Given the description of an element on the screen output the (x, y) to click on. 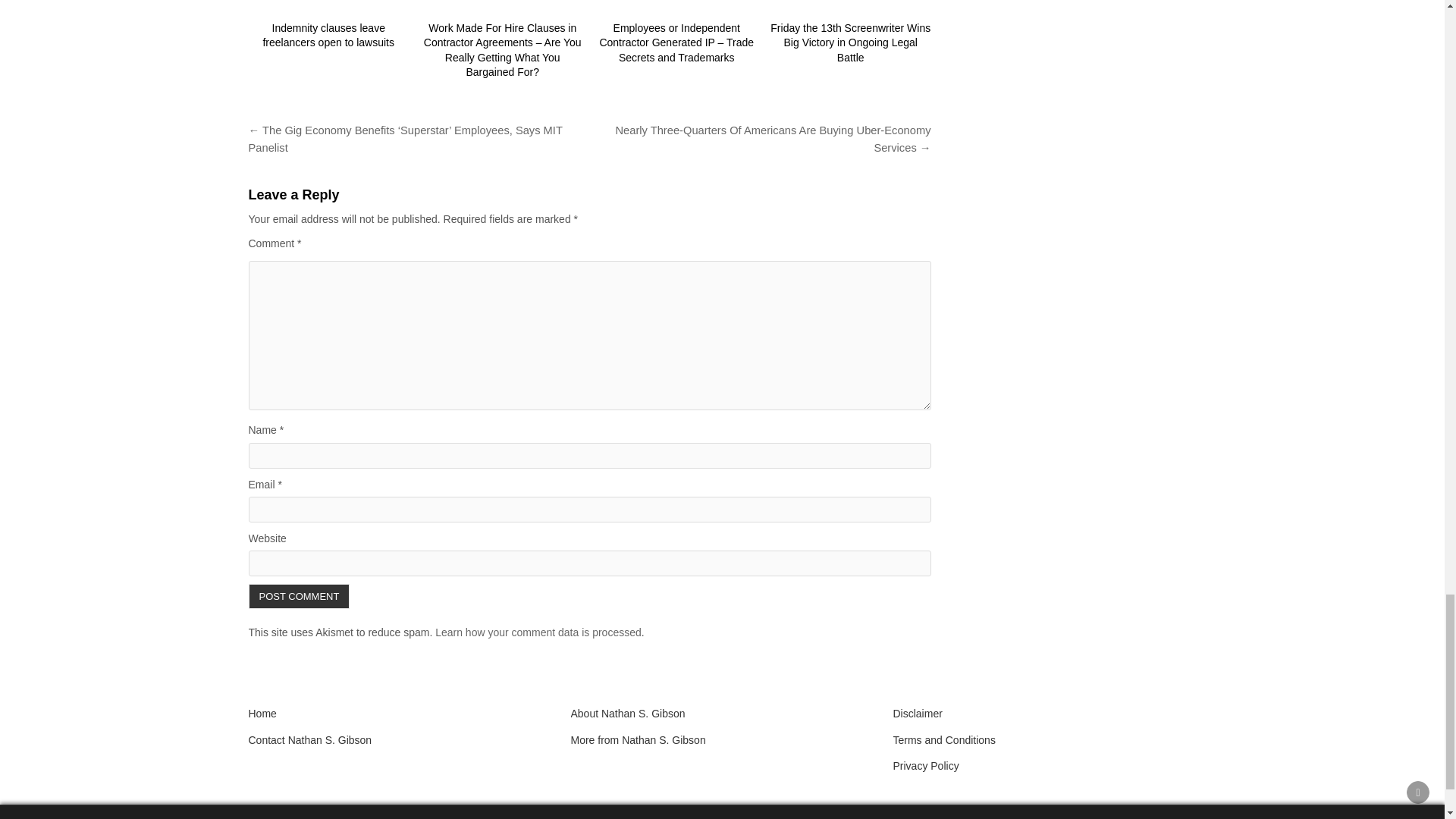
Indemnity clauses leave freelancers open to lawsuits (328, 35)
Learn how your comment data is processed (538, 632)
Post Comment (299, 596)
Post Comment (299, 596)
